Given the description of an element on the screen output the (x, y) to click on. 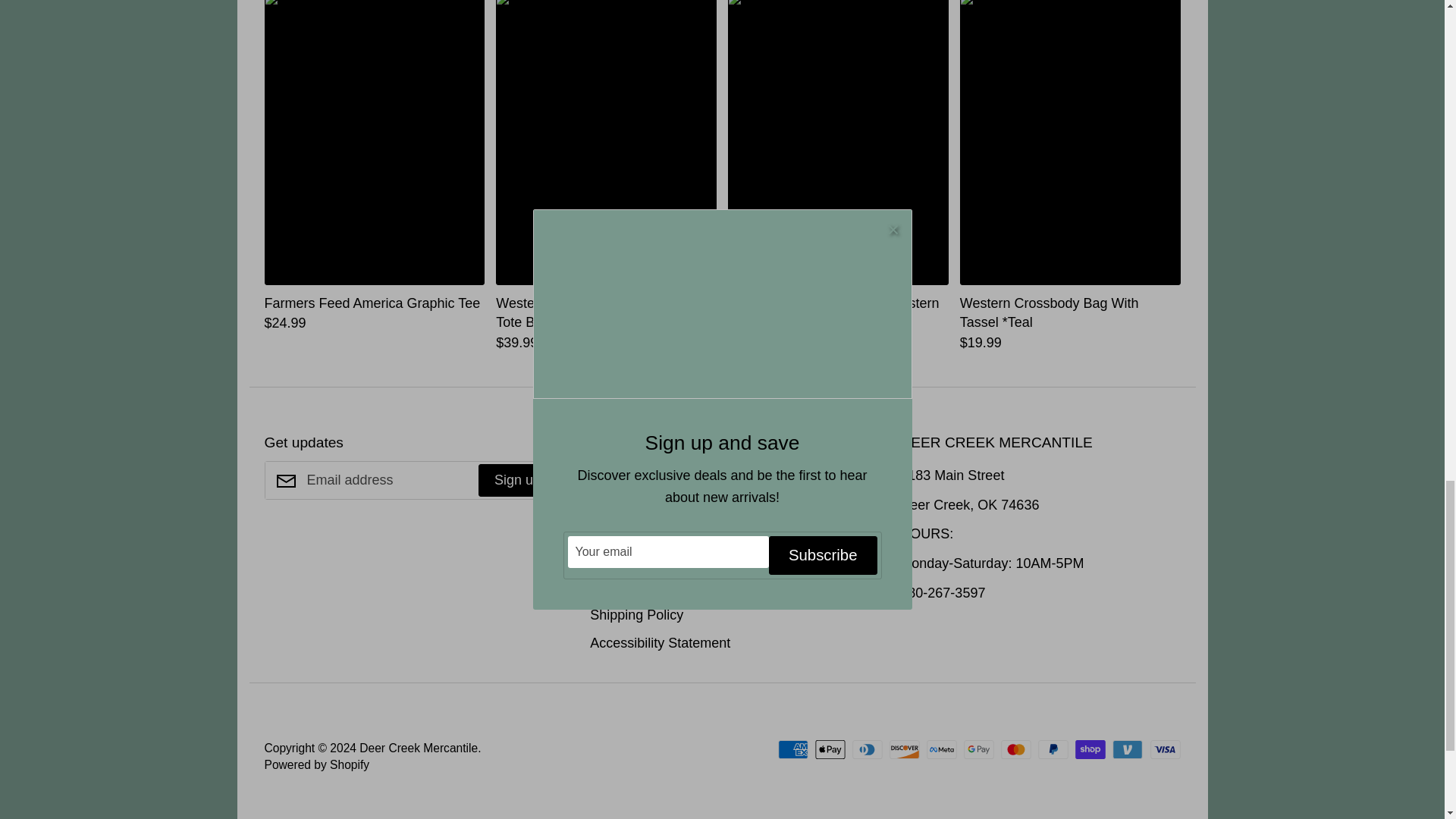
Google Pay (978, 749)
Apple Pay (830, 749)
American Express (792, 749)
Mastercard (1015, 749)
Diners Club (866, 749)
Meta Pay (941, 749)
Discover (904, 749)
